Given the description of an element on the screen output the (x, y) to click on. 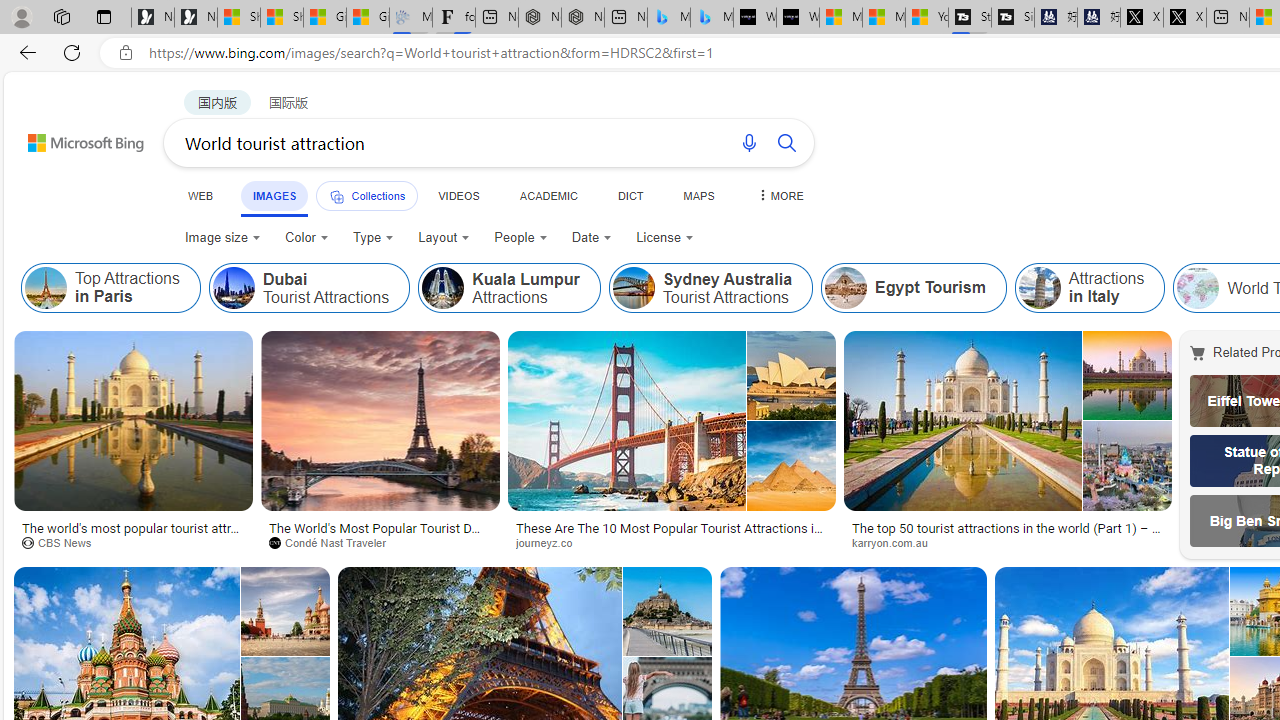
Newsletter Sign Up (196, 17)
Image result for World tourist attraction (667, 611)
Microsoft Bing Travel - Shangri-La Hotel Bangkok (712, 17)
Image size (222, 237)
karryon.com.au (897, 541)
Microsoft Bing Travel - Stays in Bangkok, Bangkok, Thailand (668, 17)
Dubai Tourist Attractions (233, 287)
License (665, 237)
MORE (779, 195)
